Given the description of an element on the screen output the (x, y) to click on. 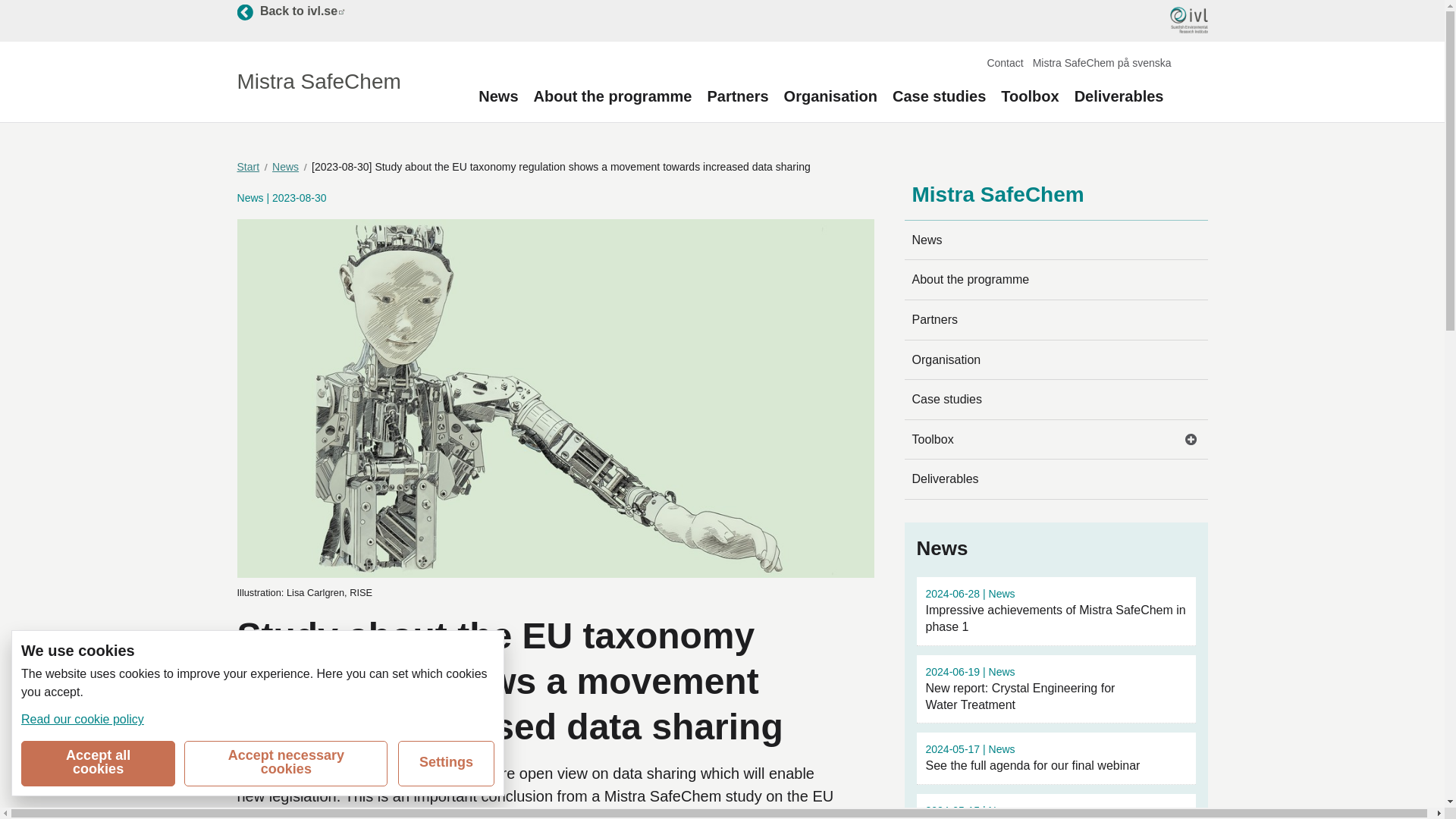
Contact (1005, 61)
Deliverables (1055, 479)
Settings (446, 763)
Mistra SafeChem (997, 194)
Mistra SafeChem (317, 82)
Case studies (1055, 400)
Deliverables (1118, 95)
About the programme (613, 95)
Case studies (938, 95)
Read our cookie policy (290, 11)
Accept all cookies (82, 718)
Read more about  See the full agenda for our final webinar (97, 763)
